Given the description of an element on the screen output the (x, y) to click on. 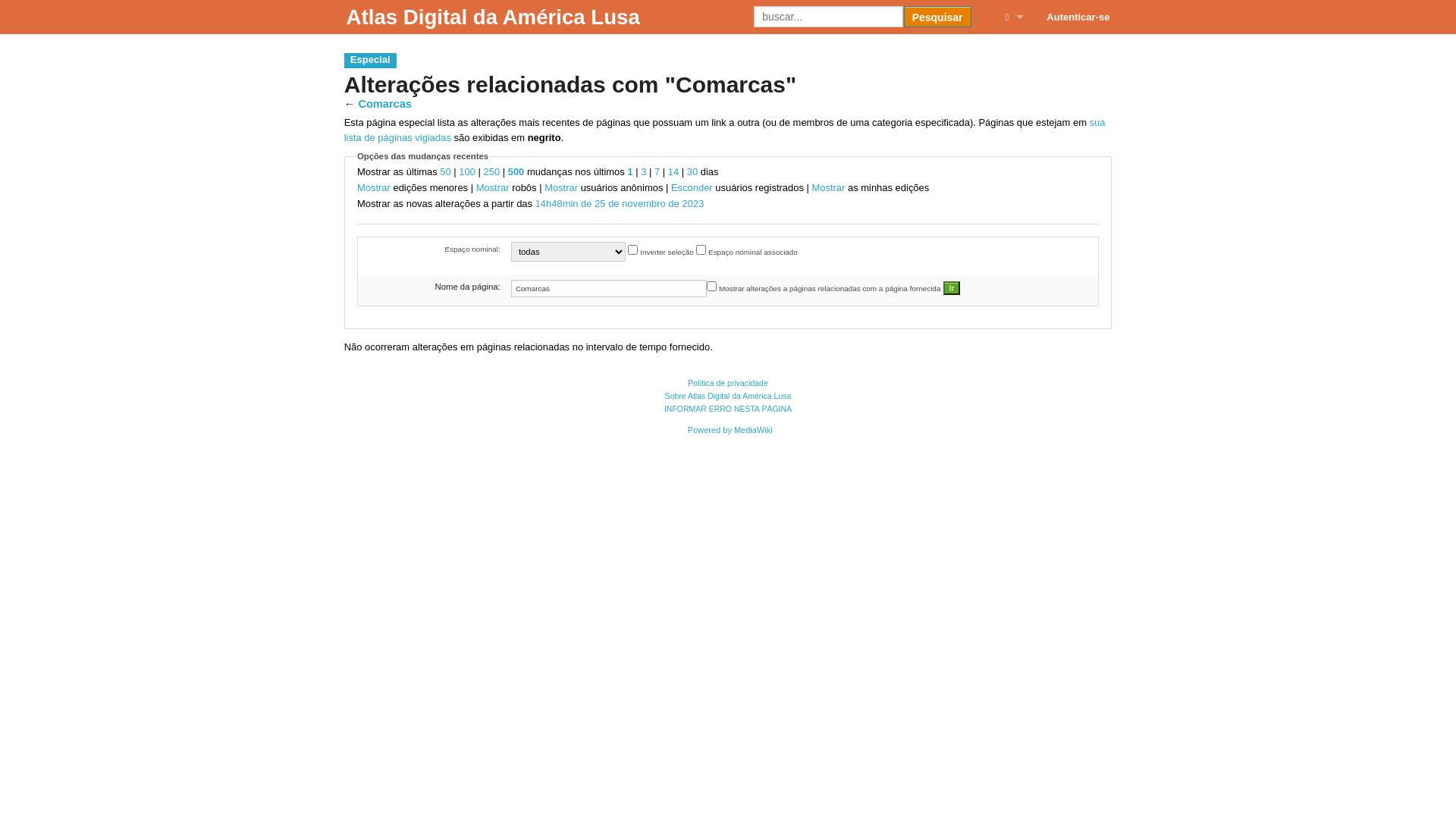
Autenticar-se Element type: text (1077, 17)
Mostrar Element type: text (373, 187)
500 Element type: text (516, 171)
Powered by MediaWiki Element type: text (729, 429)
Mostrar Element type: text (827, 187)
3 Element type: text (643, 171)
14h48min de 25 de novembro de 2023 Element type: text (619, 203)
Mostrar Element type: text (492, 187)
Pesquisar nesta wiki [f] Element type: hover (828, 16)
1 Element type: text (629, 171)
250 Element type: text (491, 171)
7 Element type: text (656, 171)
30 Element type: text (692, 171)
Pesquisar Element type: text (937, 16)
14 Element type: text (673, 171)
100 Element type: text (466, 171)
Esconder Element type: text (691, 187)
Ir Element type: text (951, 287)
Mostrar Element type: text (560, 187)
Comarcas Element type: text (384, 103)
50 Element type: text (444, 171)
